Given the description of an element on the screen output the (x, y) to click on. 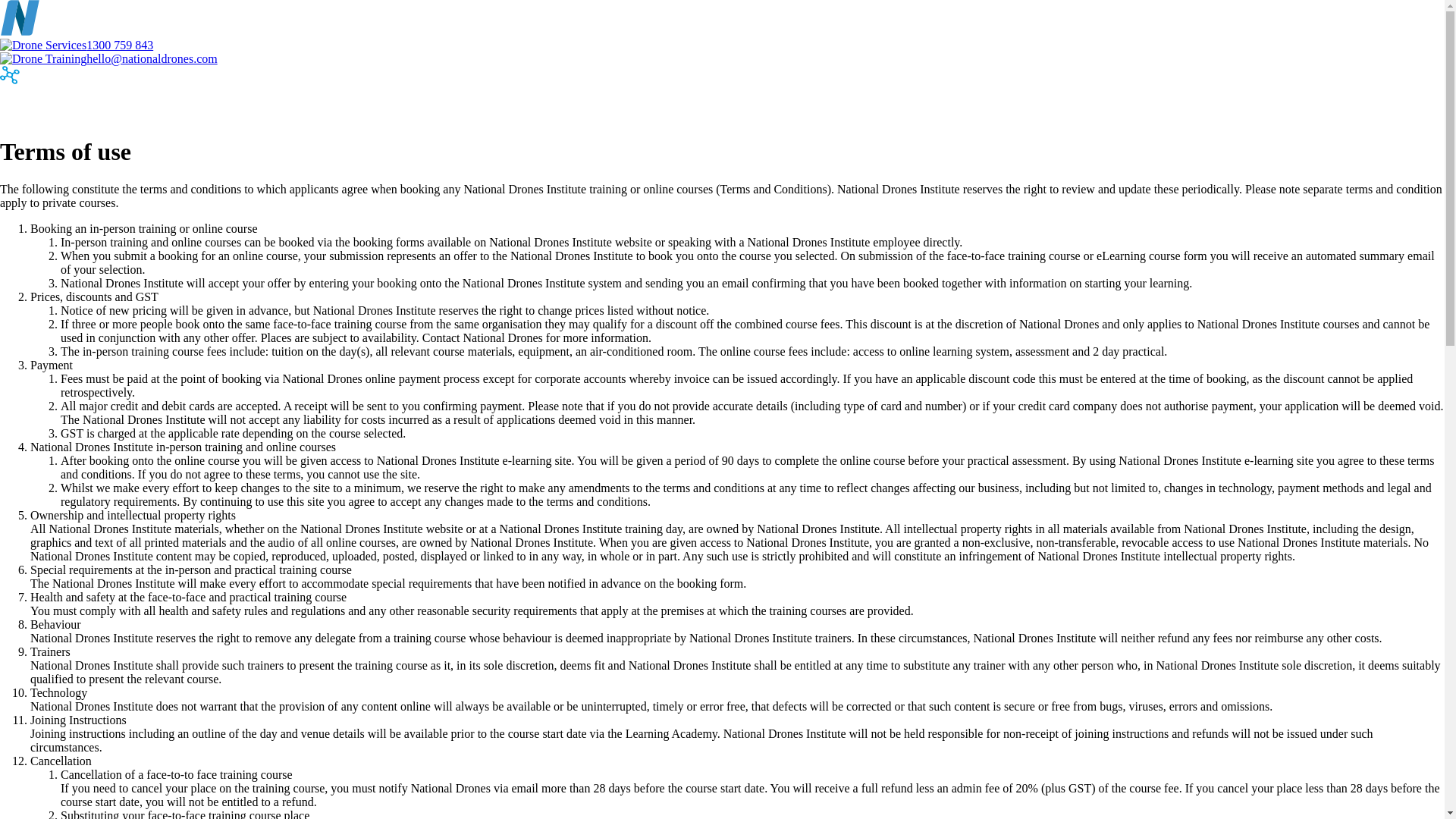
1300 759 843 Element type: text (76, 44)
About us Element type: text (397, 104)
Services Element type: text (43, 104)
Insights Element type: text (309, 104)
Contact us Element type: text (484, 104)
hello@nationaldrones.com Element type: text (108, 58)
Software Element type: text (221, 104)
Training Element type: text (131, 104)
